Given the description of an element on the screen output the (x, y) to click on. 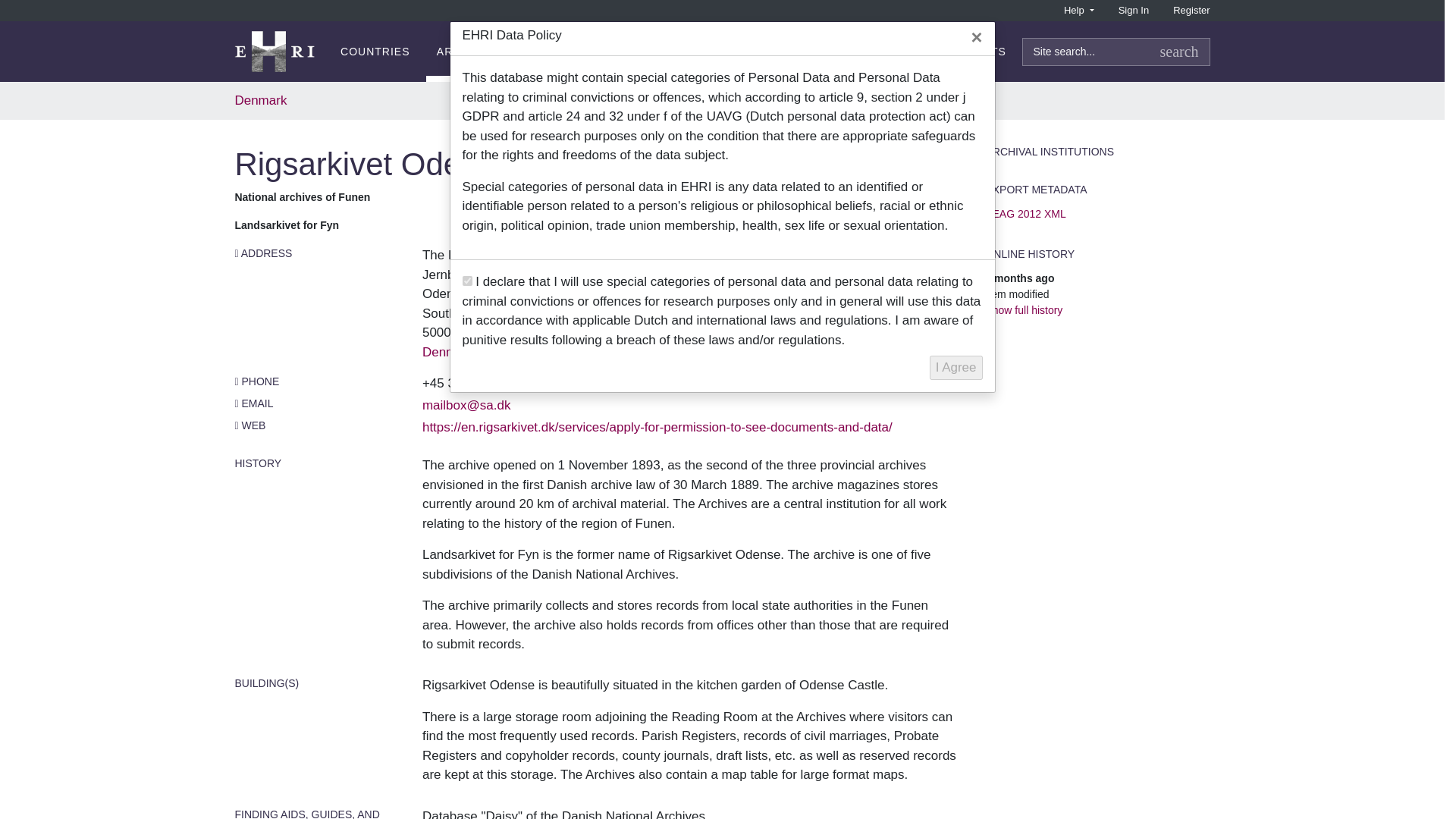
ARCHIVAL INSTITUTIONS (508, 51)
on (467, 280)
Help (1078, 10)
Website (657, 427)
AUTHORITY SETS (954, 51)
Denmark (448, 351)
Register (1190, 10)
COUNTRIES (375, 51)
EAG 2012 XML (1019, 277)
